Given the description of an element on the screen output the (x, y) to click on. 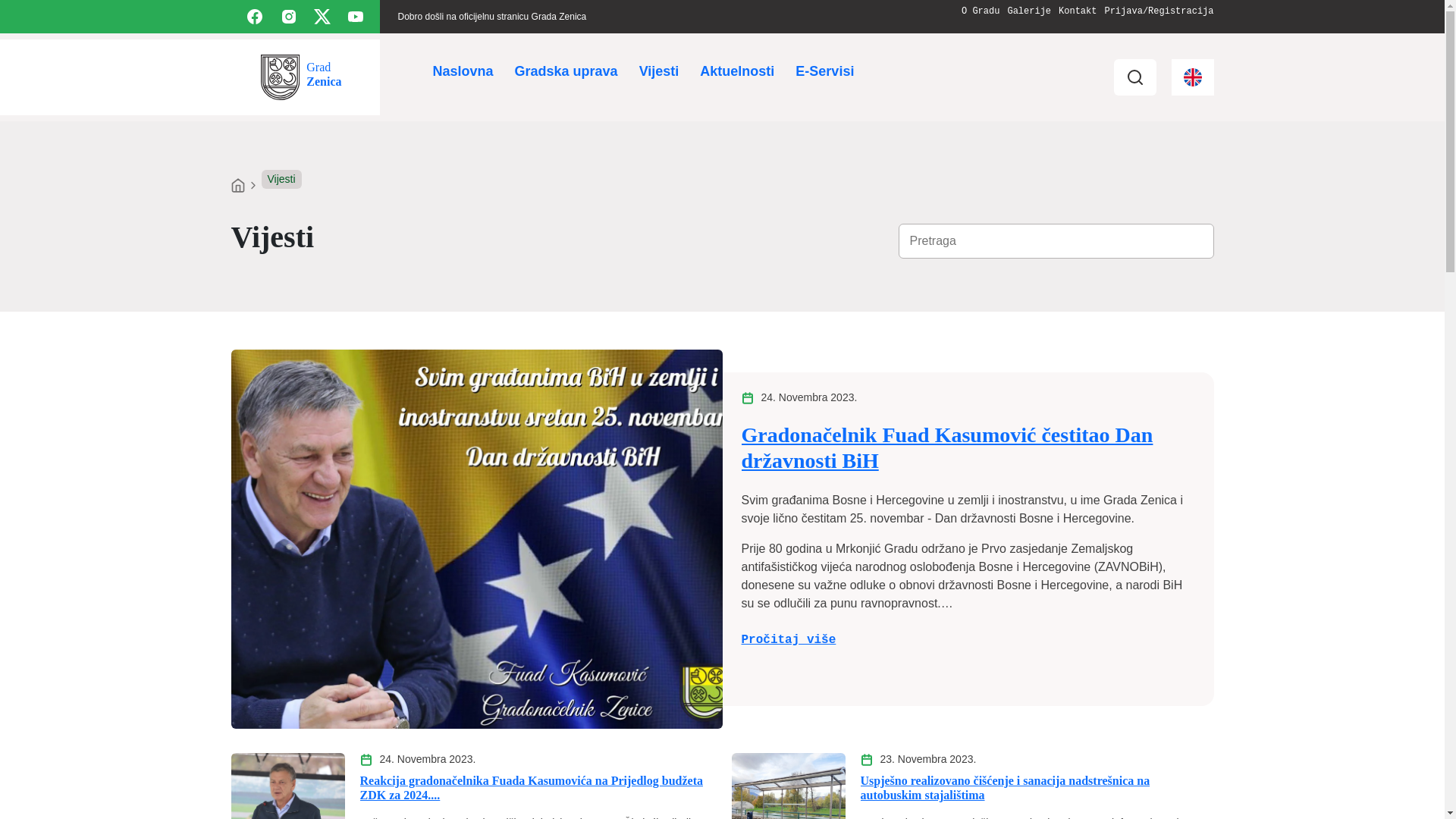
Kontakt Element type: text (1077, 11)
Gradska uprava Element type: text (566, 71)
O Gradu Element type: text (980, 11)
Prijava/Registracija Element type: text (1158, 11)
Galerije Element type: text (1029, 11)
Vijesti Element type: text (659, 71)
Grad
Zenica Element type: text (300, 77)
Naslovna Element type: text (462, 71)
Aktuelnosti Element type: text (736, 71)
E-Servisi Element type: text (824, 71)
